Given the description of an element on the screen output the (x, y) to click on. 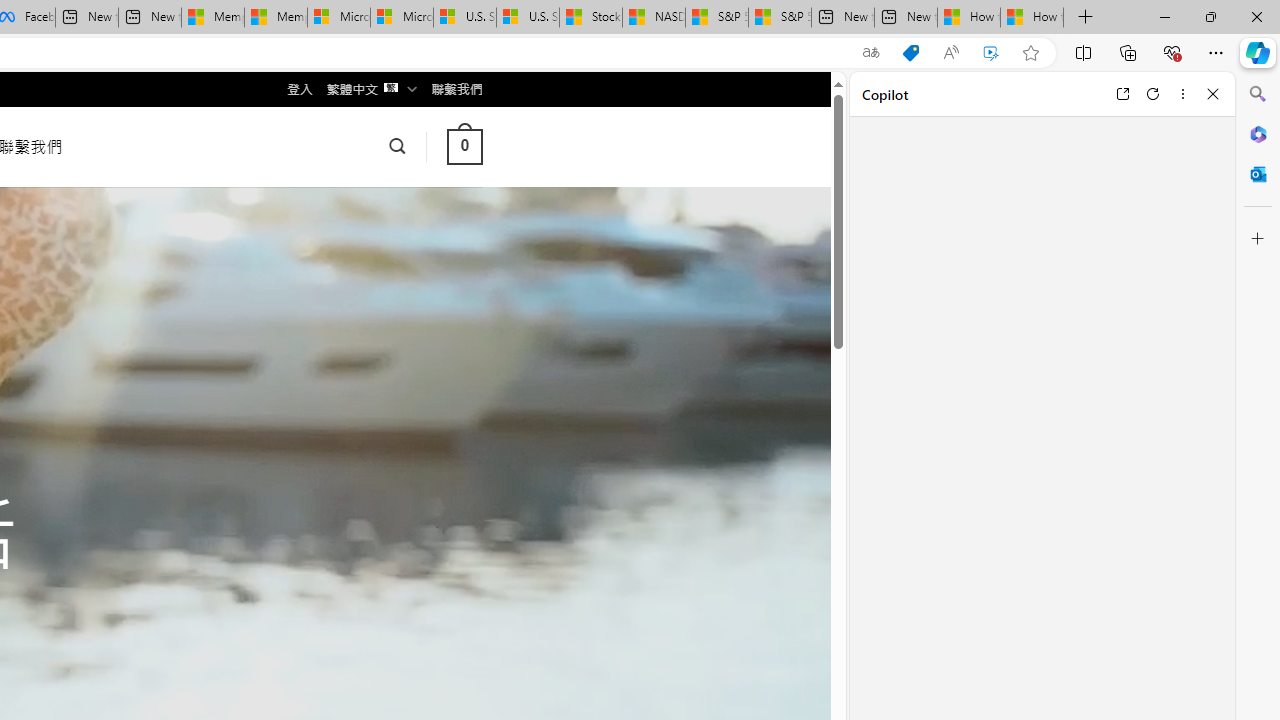
Customize (1258, 239)
Open link in new tab (1122, 93)
  0   (464, 146)
